Given the description of an element on the screen output the (x, y) to click on. 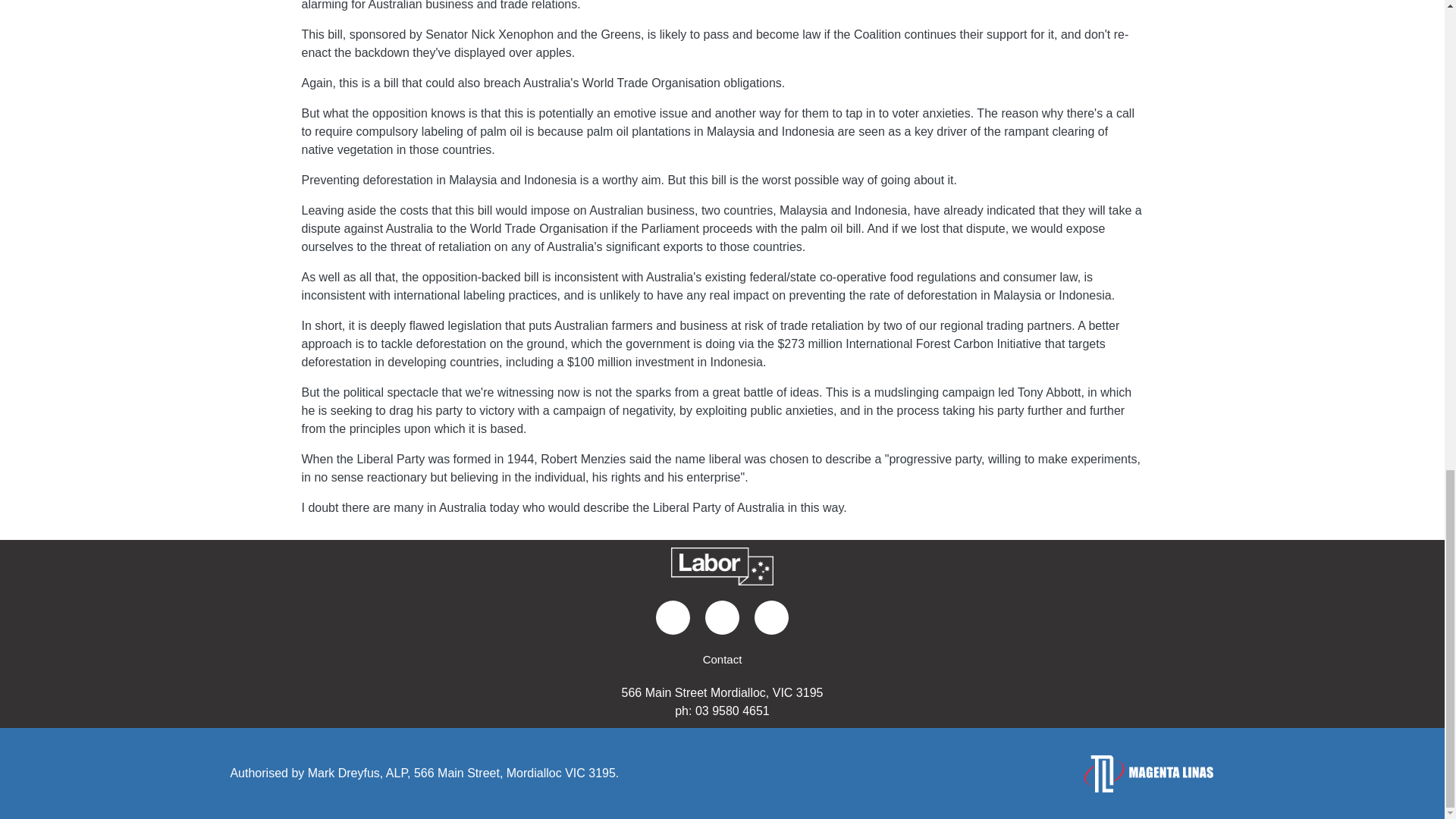
Contact (721, 659)
